Given the description of an element on the screen output the (x, y) to click on. 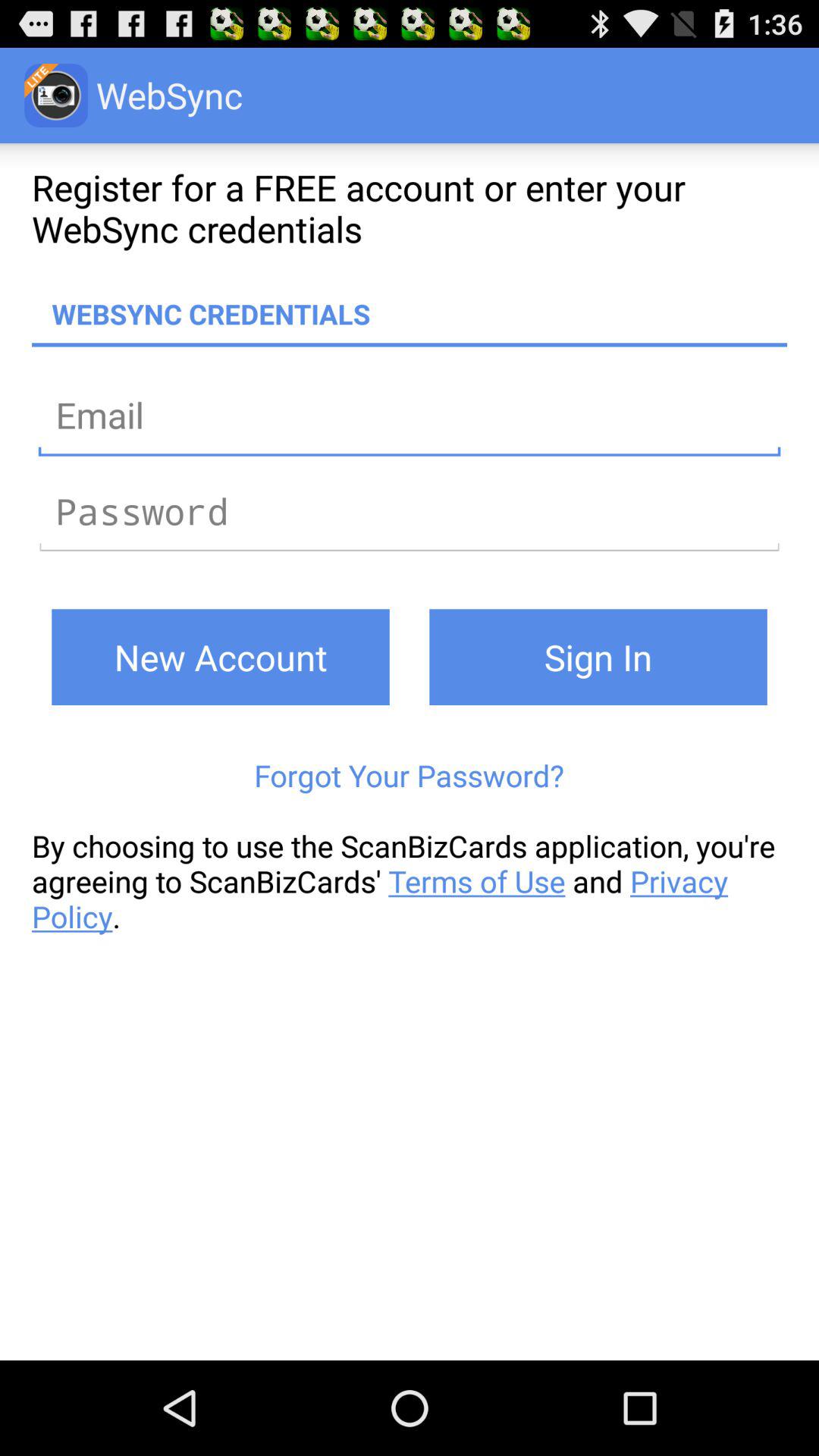
choose the sign in icon (598, 657)
